Given the description of an element on the screen output the (x, y) to click on. 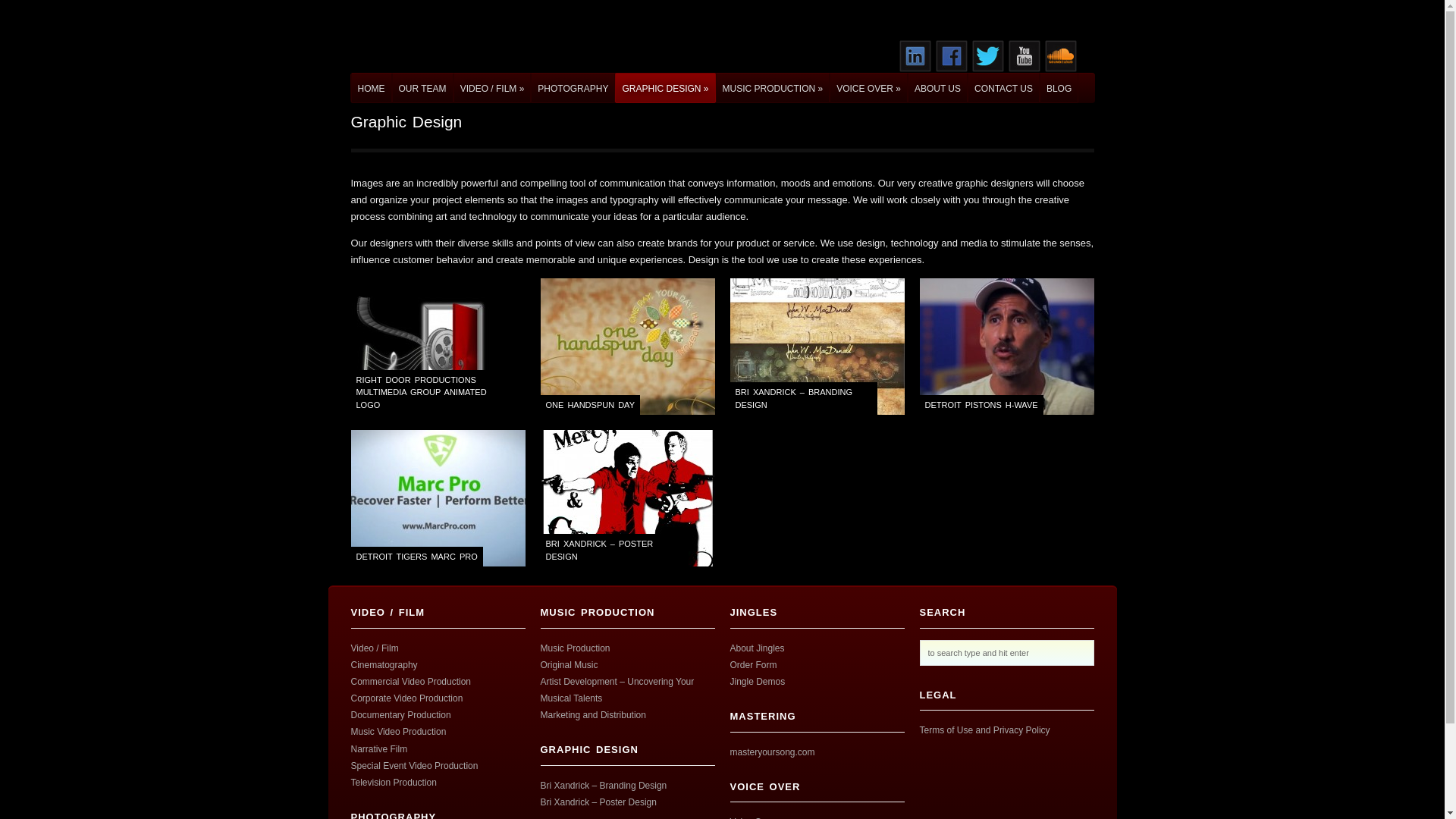
OUR TEAM (421, 87)
HOME (370, 87)
Detroit Tigers Marc Pro (437, 497)
to search type and hit enter (1005, 652)
One Handspun Day (627, 346)
Detroit Pistons H-WAVE (1005, 346)
PHOTOGRAPHY (572, 87)
Right Door Productions Multimedia Group Animated Logo (437, 346)
